Given the description of an element on the screen output the (x, y) to click on. 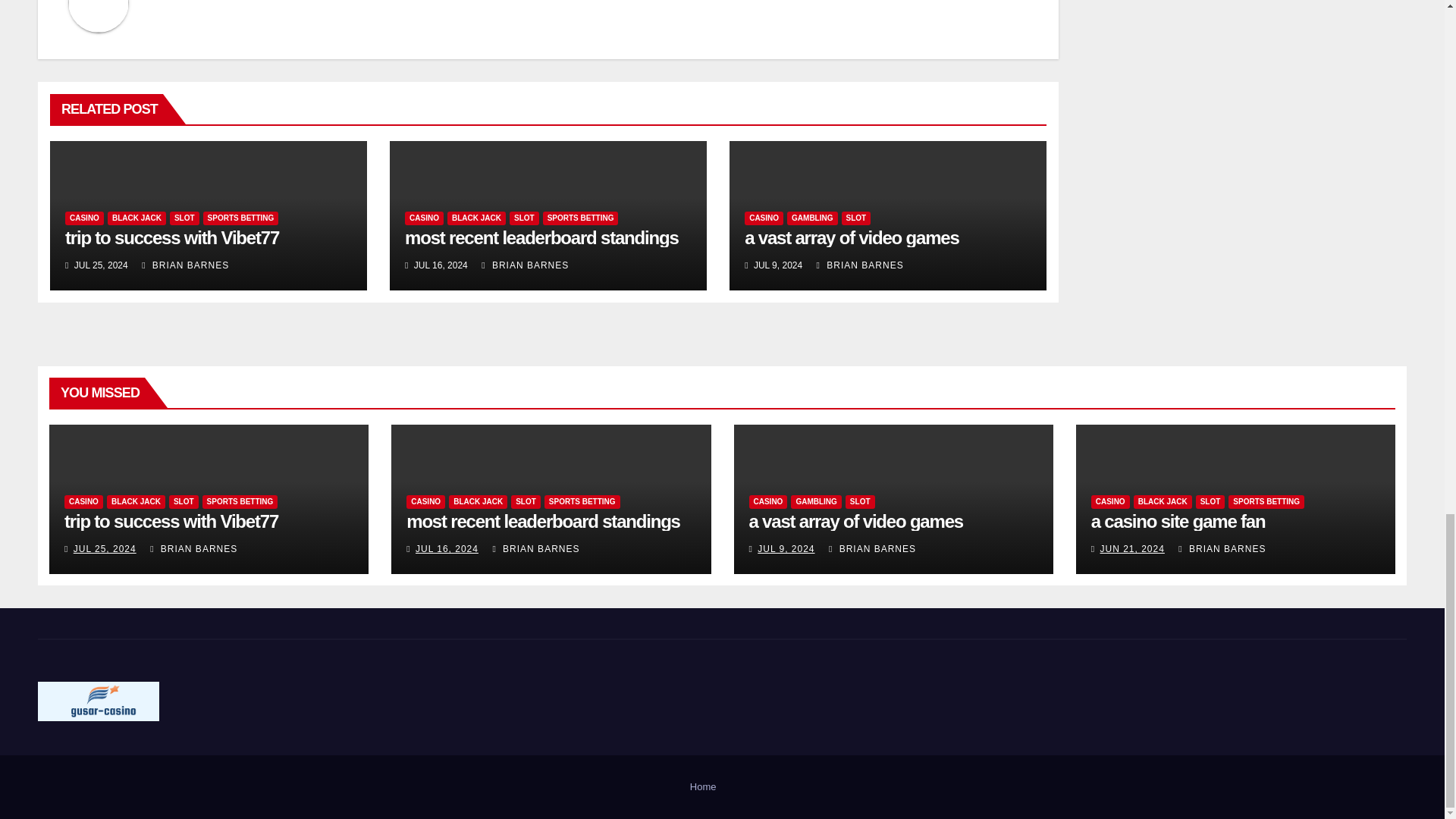
Home (703, 786)
Permalink to: trip to success with Vibet77 (171, 521)
SLOT (184, 218)
CASINO (84, 218)
BLACK JACK (136, 218)
Permalink to: a vast array of video games (851, 237)
SPORTS BETTING (241, 218)
Permalink to: most recent leaderboard standings (541, 237)
Permalink to: a vast array of video games (855, 521)
Permalink to: trip to success with Vibet77 (172, 237)
trip to success with Vibet77 (172, 237)
Permalink to: a casino site game fan (1177, 521)
Permalink to: most recent leaderboard standings (542, 521)
